Given the description of an element on the screen output the (x, y) to click on. 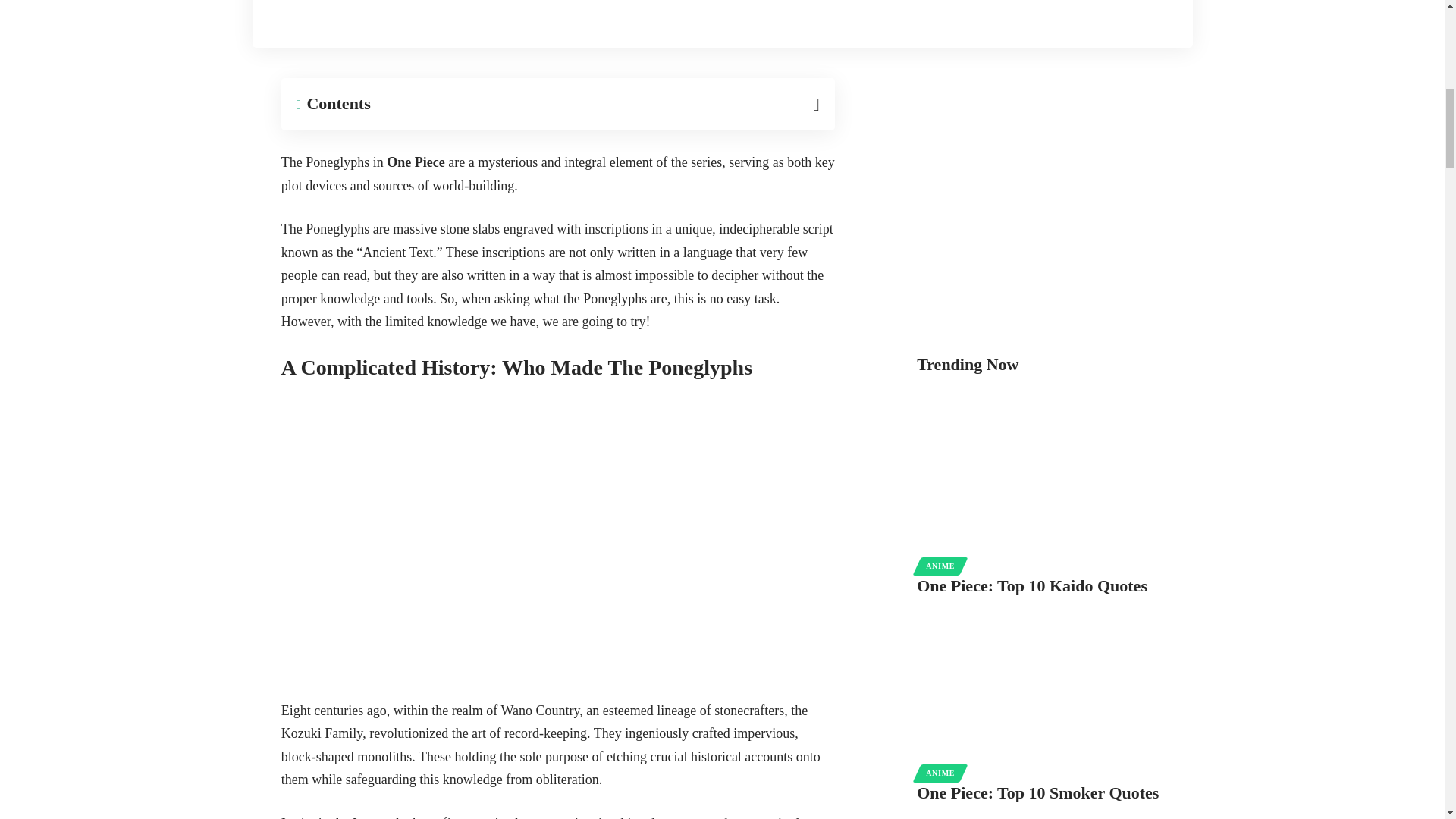
One Piece: Top 10 Smoker Quotes (1042, 679)
One Piece: Top 10 Kaido Quotes (1042, 472)
